Given the description of an element on the screen output the (x, y) to click on. 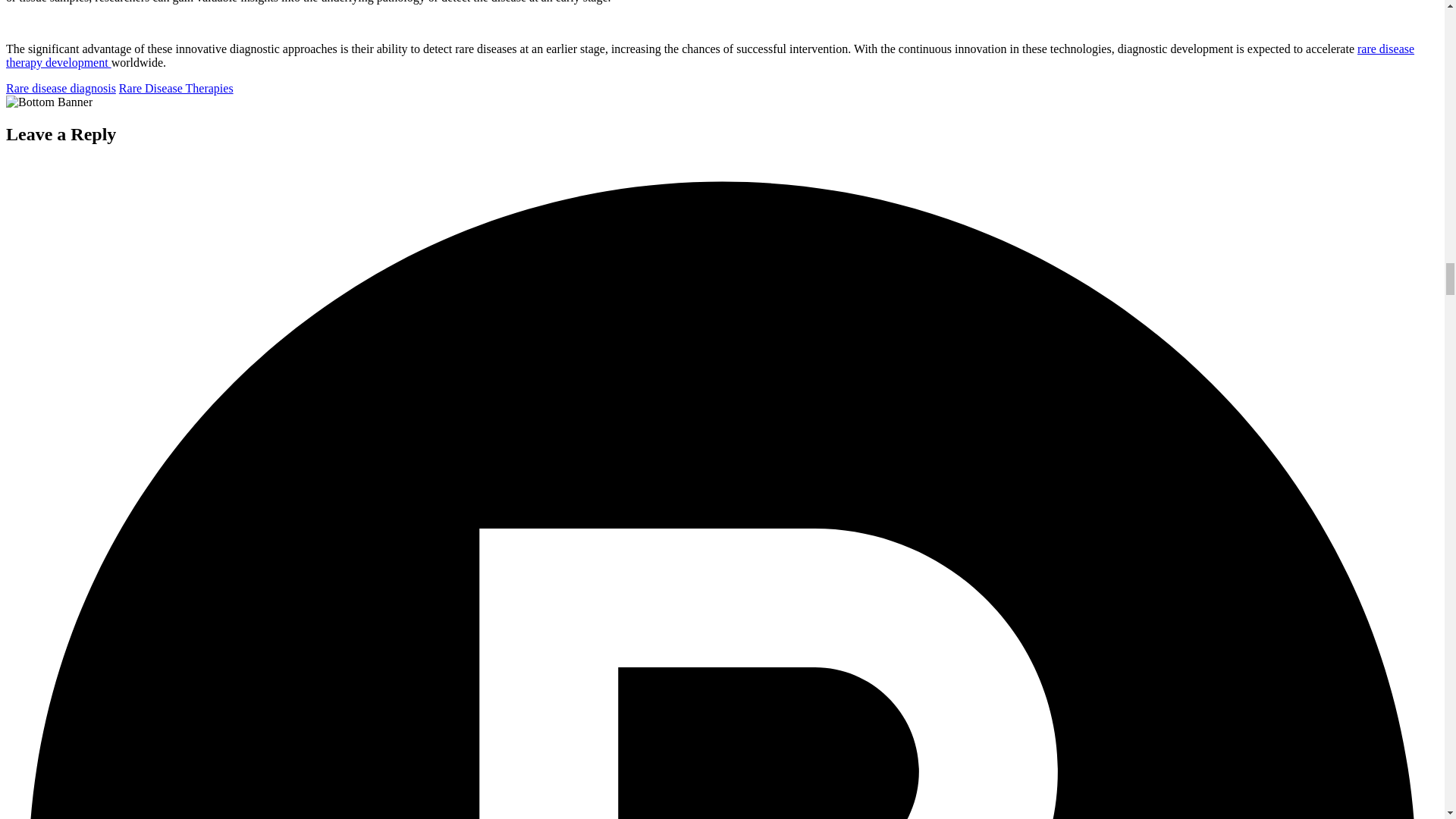
Bottom Banner (49, 101)
rare disease therapy development  (709, 55)
Rare disease diagnosis (60, 88)
Rare Disease Therapies (175, 88)
